Given the description of an element on the screen output the (x, y) to click on. 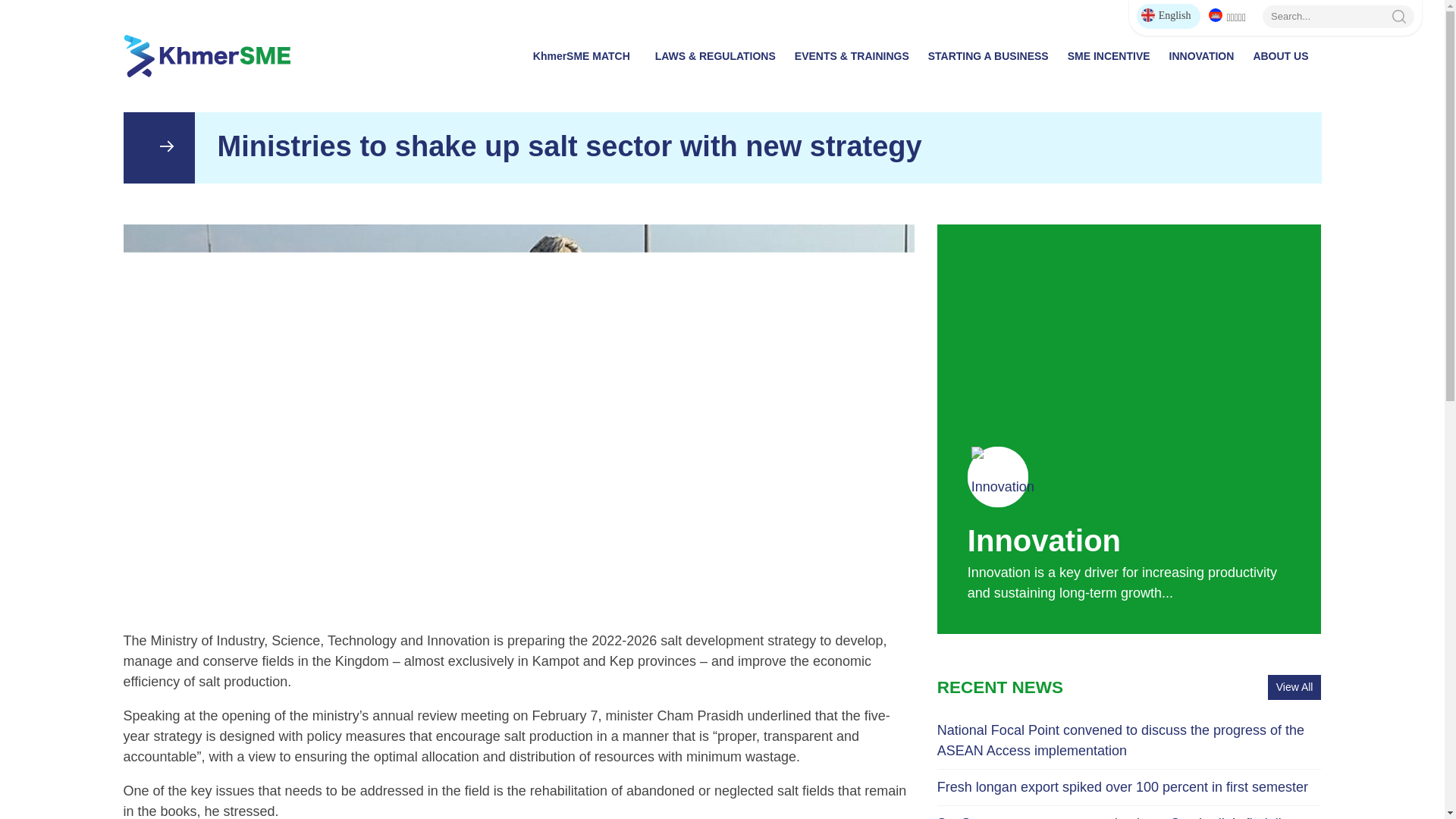
INNOVATION (1205, 55)
View All (1295, 687)
English (1169, 16)
STARTING A BUSINESS (991, 55)
Khmer SME (205, 55)
KhmerSME MATCH   (588, 55)
ABOUT US (1283, 55)
SME INCENTIVE (1112, 55)
